Given the description of an element on the screen output the (x, y) to click on. 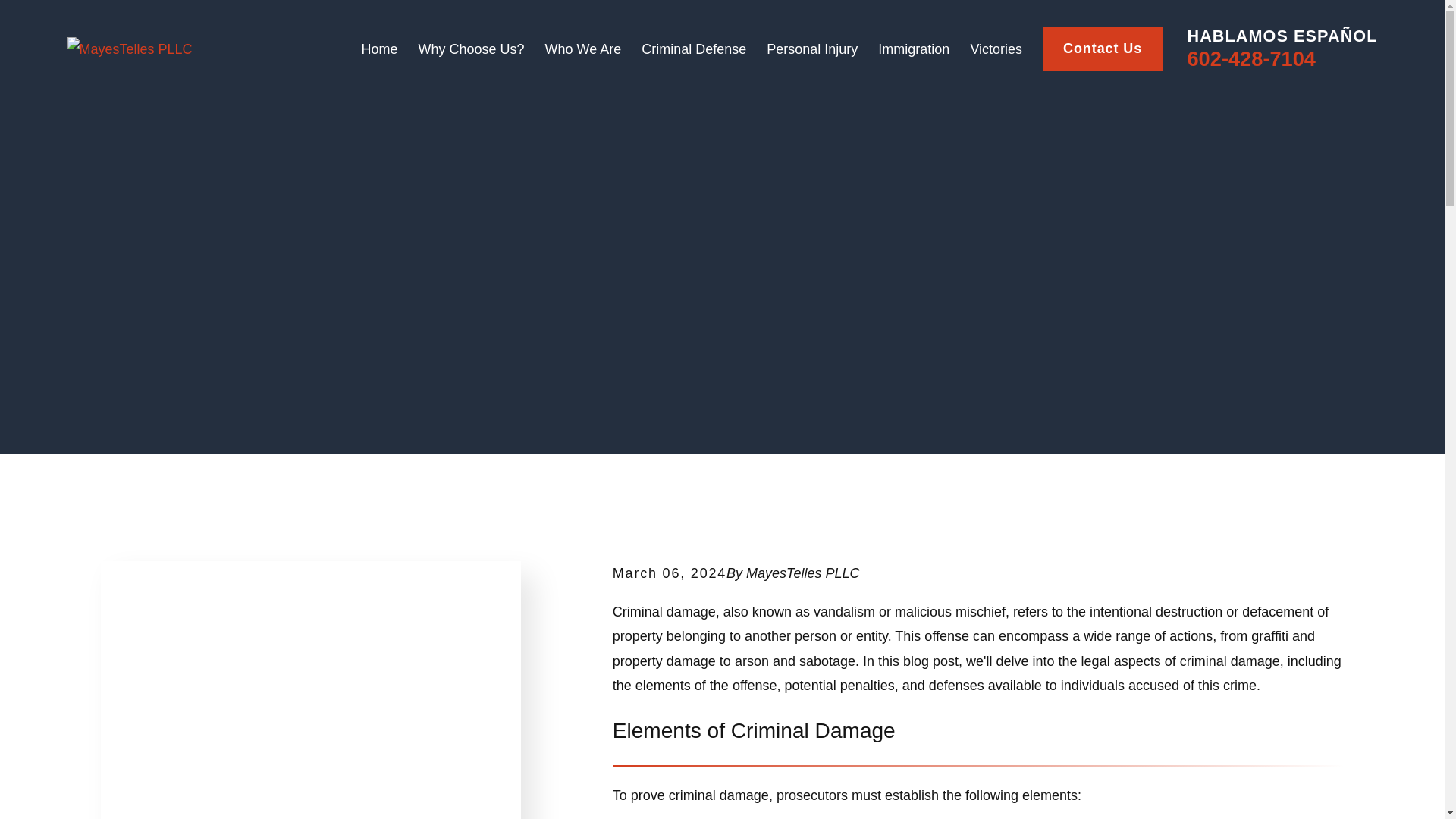
Why Choose Us? (470, 49)
Criminal Defense (693, 49)
Home (129, 48)
Who We Are (582, 49)
